Given the description of an element on the screen output the (x, y) to click on. 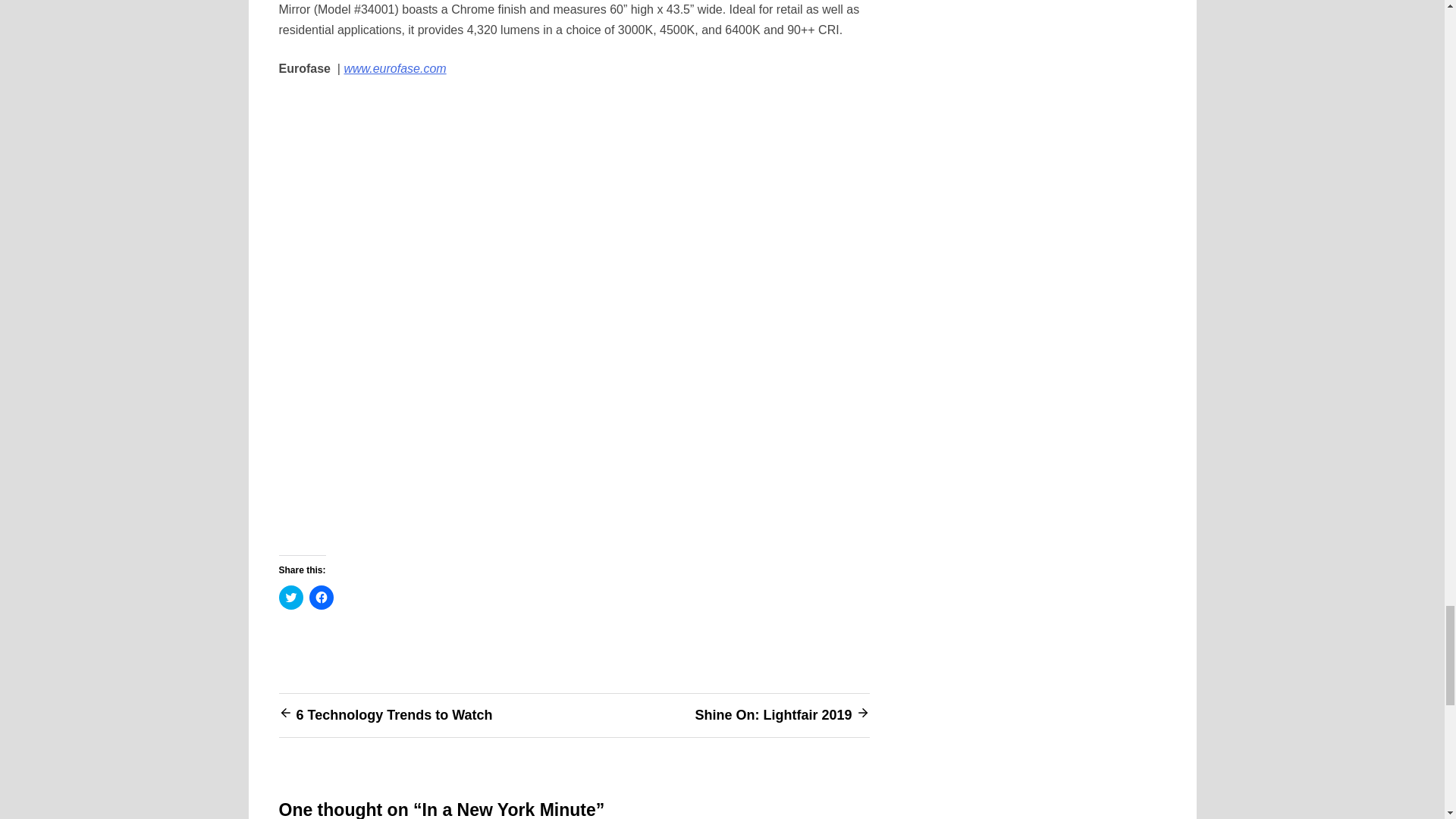
Shine On: Lightfair 2019 (772, 714)
Click to share on Twitter (290, 597)
www.eurofase.com (394, 68)
Click to share on Facebook (320, 597)
6 Technology Trends to Watch (393, 714)
